Given the description of an element on the screen output the (x, y) to click on. 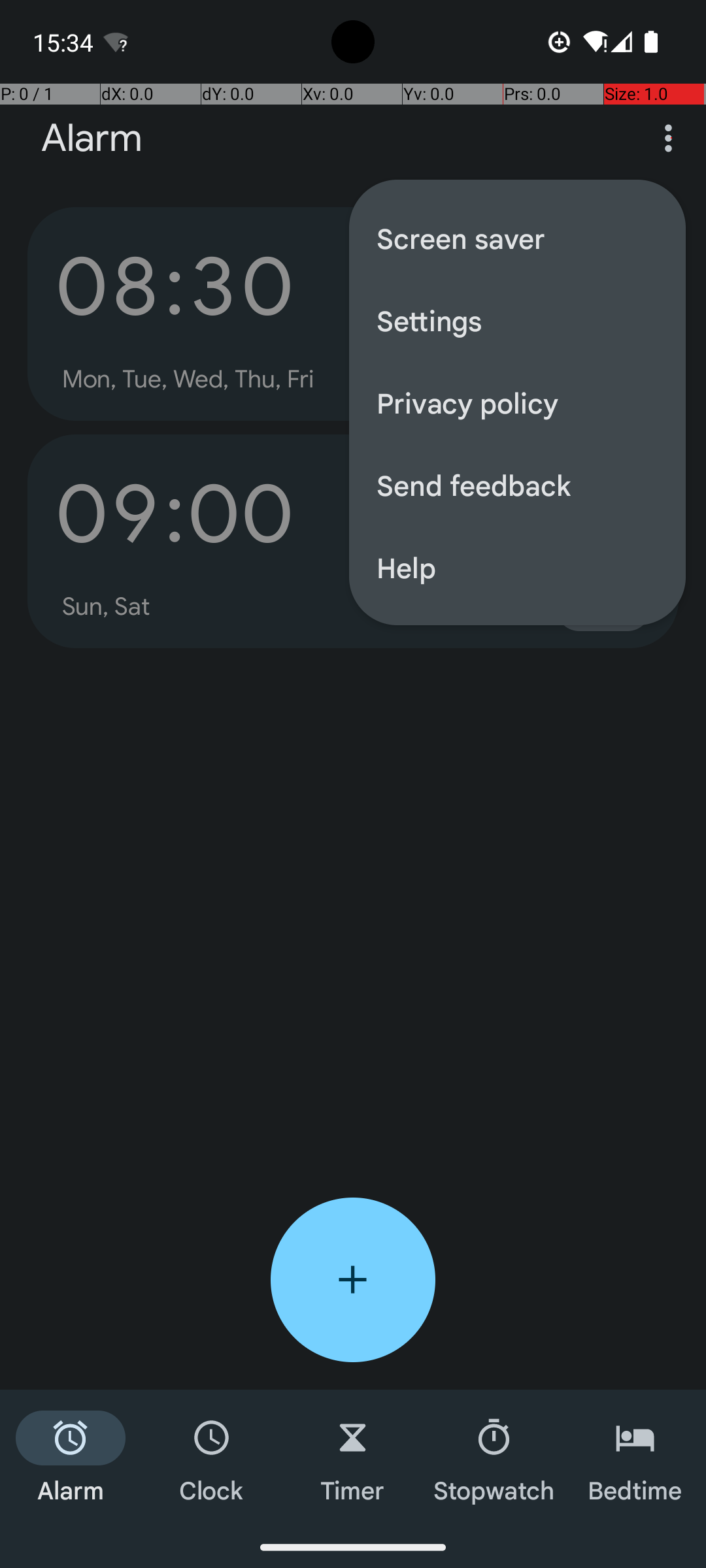
Screen saver Element type: android.widget.TextView (517, 237)
